Given the description of an element on the screen output the (x, y) to click on. 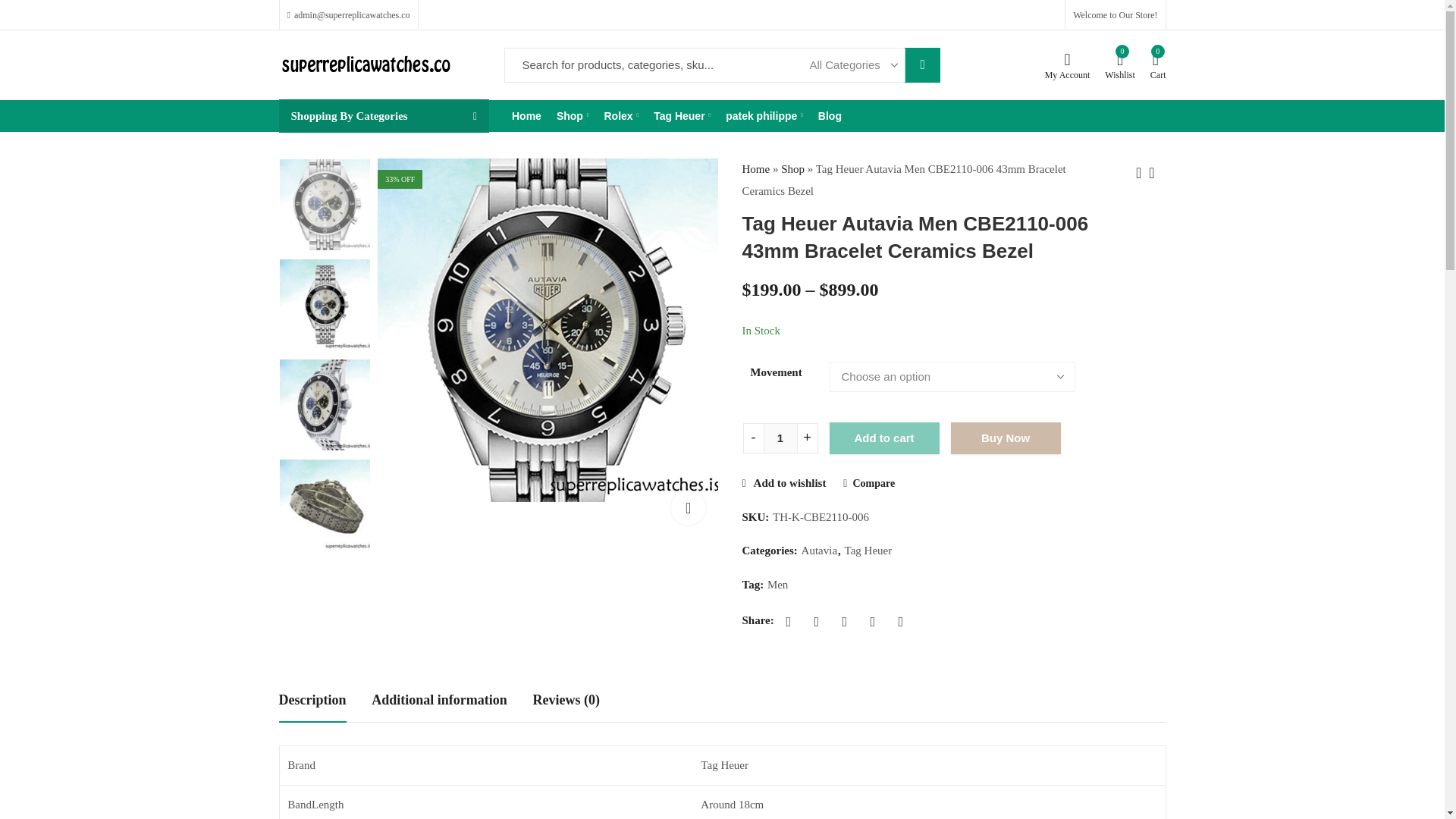
1 (779, 438)
Qty (779, 438)
TH-K-CBE2110-006-1.jpg (548, 330)
Search (922, 64)
My Account (1067, 65)
